Given the description of an element on the screen output the (x, y) to click on. 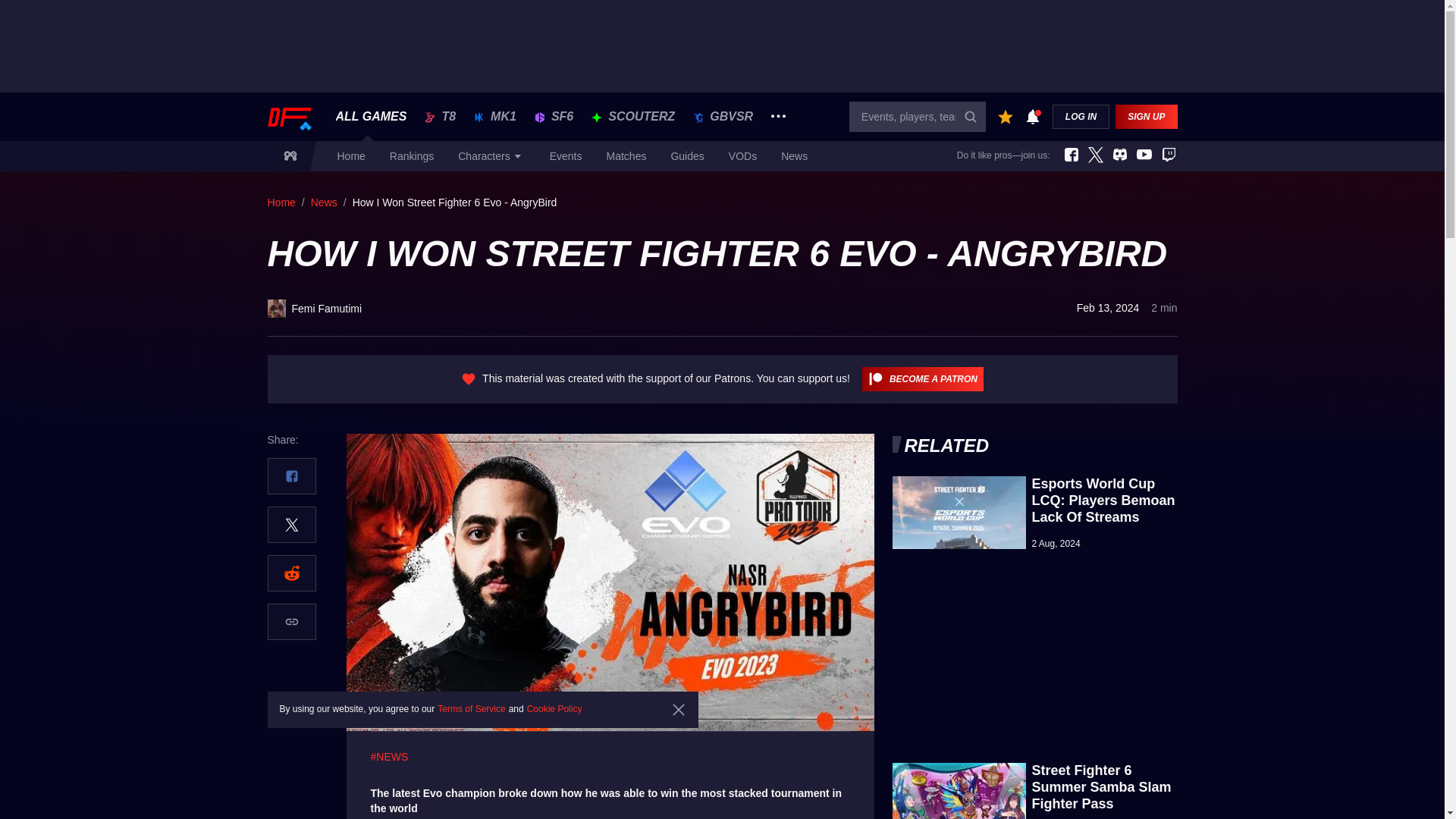
SF6 (553, 116)
T8 (440, 116)
MK1 (495, 116)
ALL GAMES (370, 116)
